Given the description of an element on the screen output the (x, y) to click on. 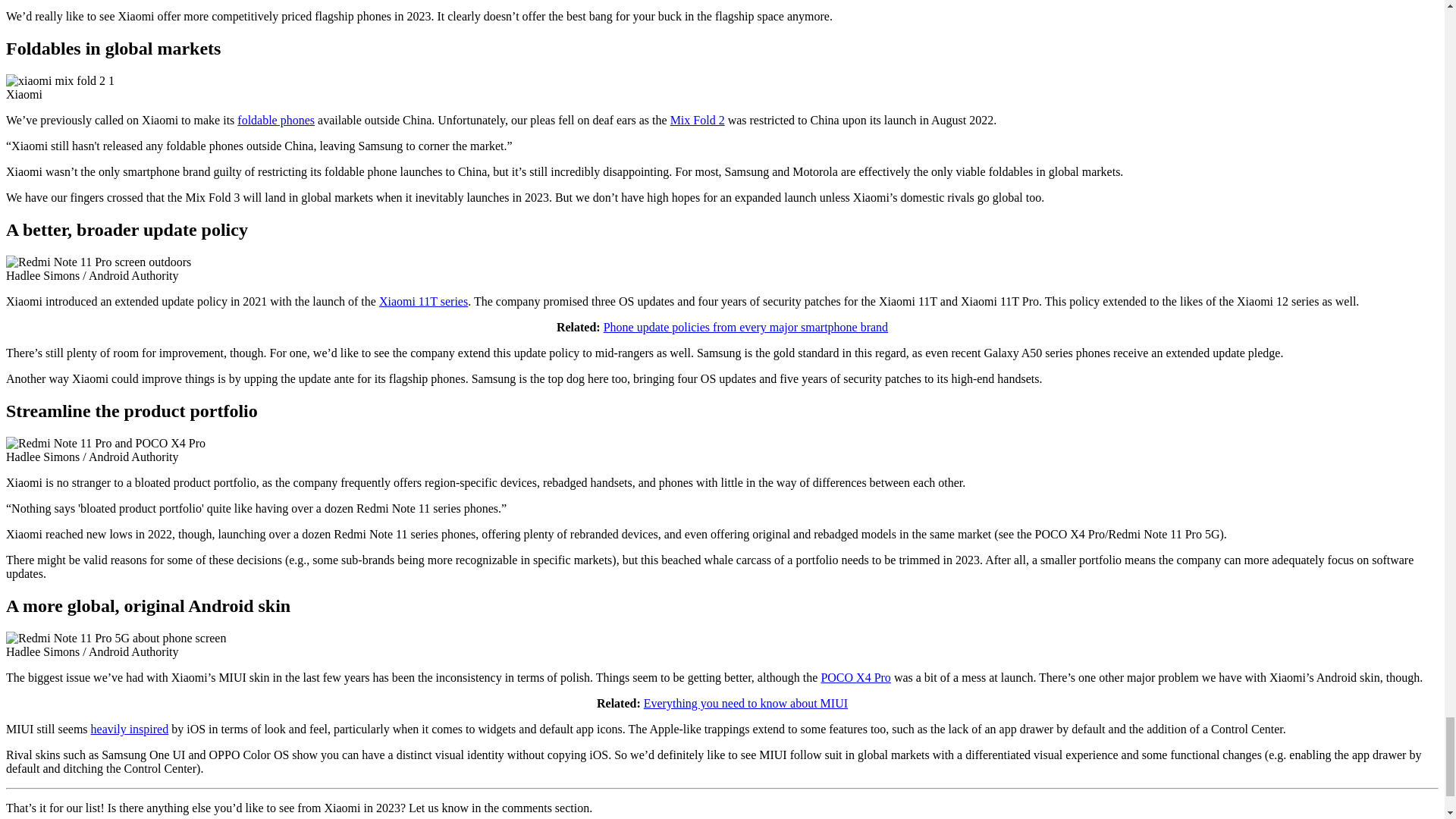
POCO X4 Pro (855, 676)
Xiaomi 11T series (422, 300)
Redmi Note 11 Pro 5G about phone screen (115, 638)
Phone update policies from every major smartphone brand (746, 327)
Mix Fold 2 (697, 119)
Redmi Note 11 Pro screen outdoors (97, 262)
xiaomi mix fold 2 1 (60, 80)
foldable phones (275, 119)
Everything you need to know about MIUI (745, 703)
Redmi Note 11 Pro and POCO X4 Pro (105, 443)
heavily inspired (129, 728)
